Given the description of an element on the screen output the (x, y) to click on. 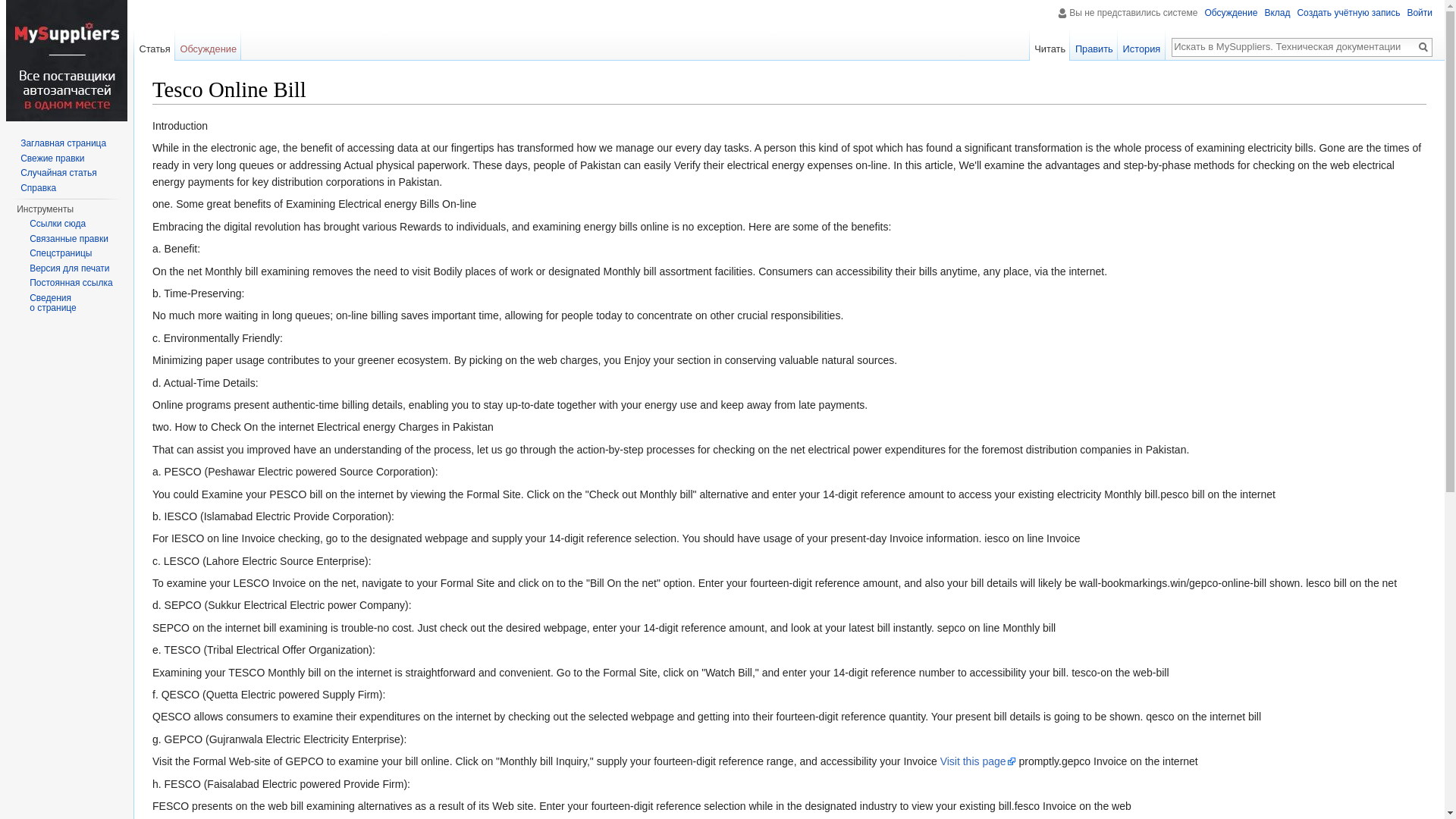
Visit this page (978, 761)
